Given the description of an element on the screen output the (x, y) to click on. 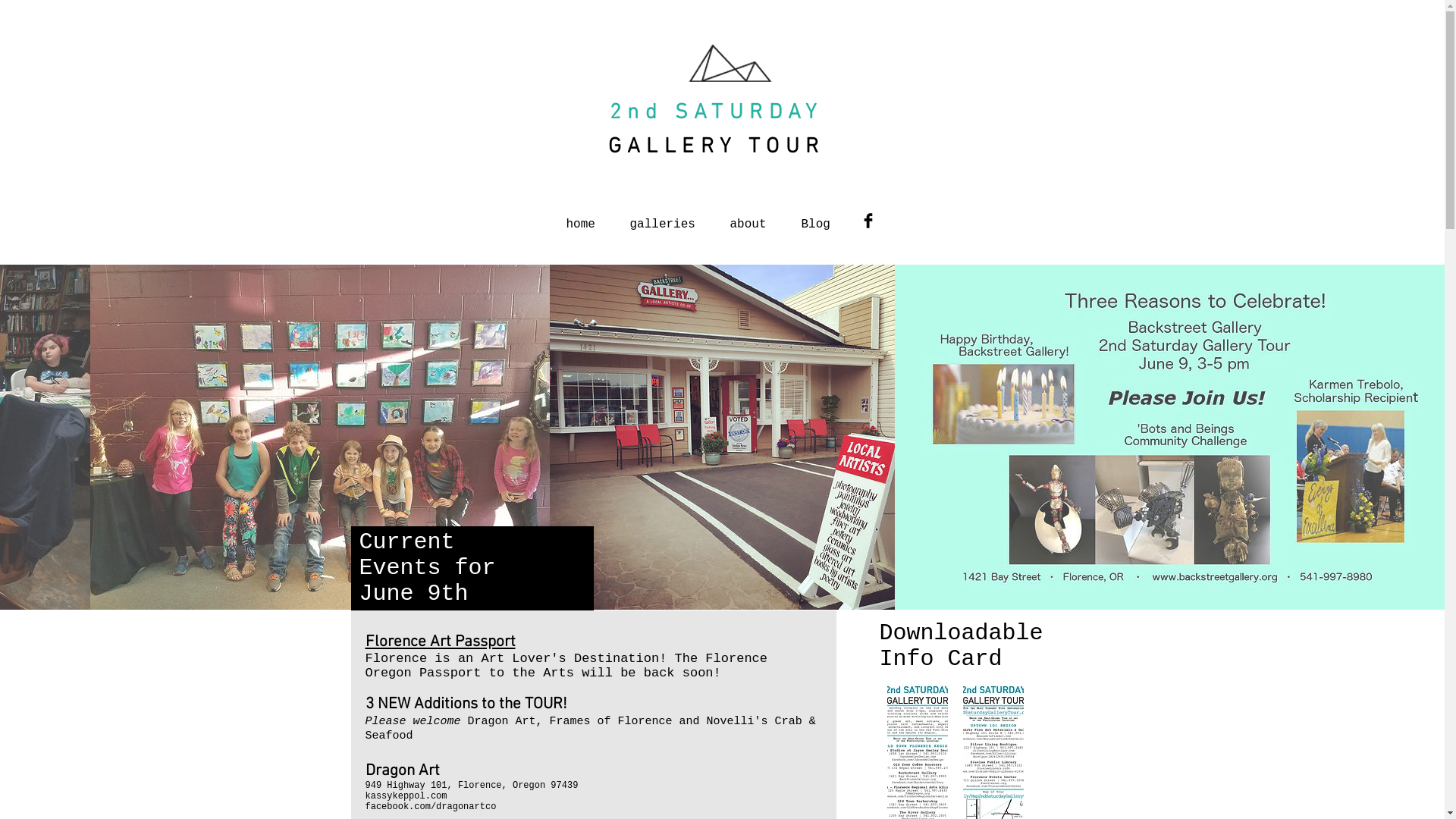
kassykeppol.com Element type: text (406, 795)
galleries Element type: text (662, 217)
GALLERY TOUR Element type: text (716, 147)
2nd SATURDAY Element type: text (715, 112)
Blog Element type: text (815, 217)
about Element type: text (748, 217)
Florence Art Passport Element type: text (440, 641)
home Element type: text (580, 217)
